Given the description of an element on the screen output the (x, y) to click on. 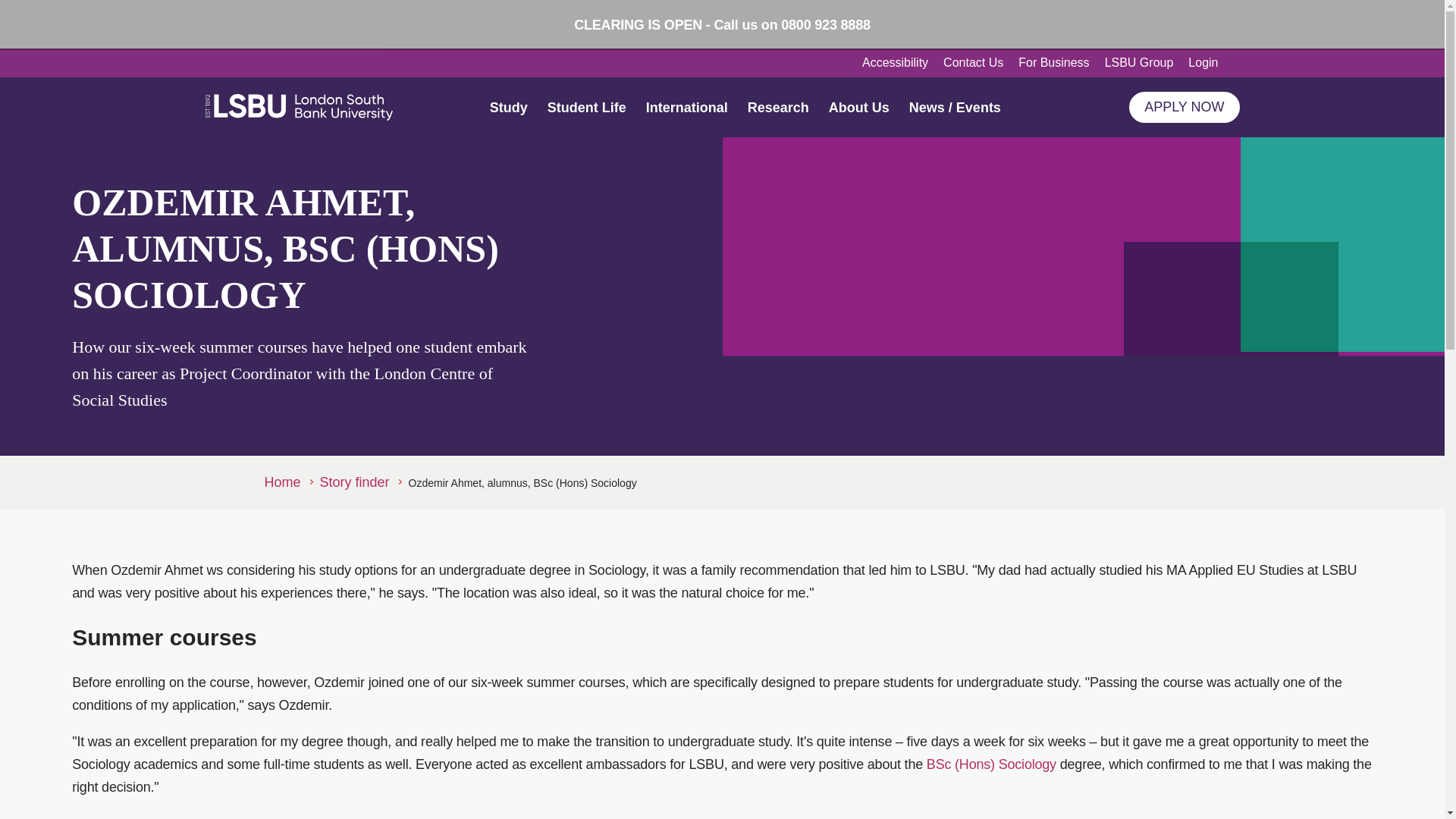
Login (1210, 62)
Contact Us (973, 62)
Go to Story finder (360, 481)
Study (508, 106)
Call us on 0800 923 8888 (791, 24)
For Business (1053, 62)
CLEARING IS OPEN - (643, 24)
Go to Home (287, 481)
Accessibility (895, 62)
